Given the description of an element on the screen output the (x, y) to click on. 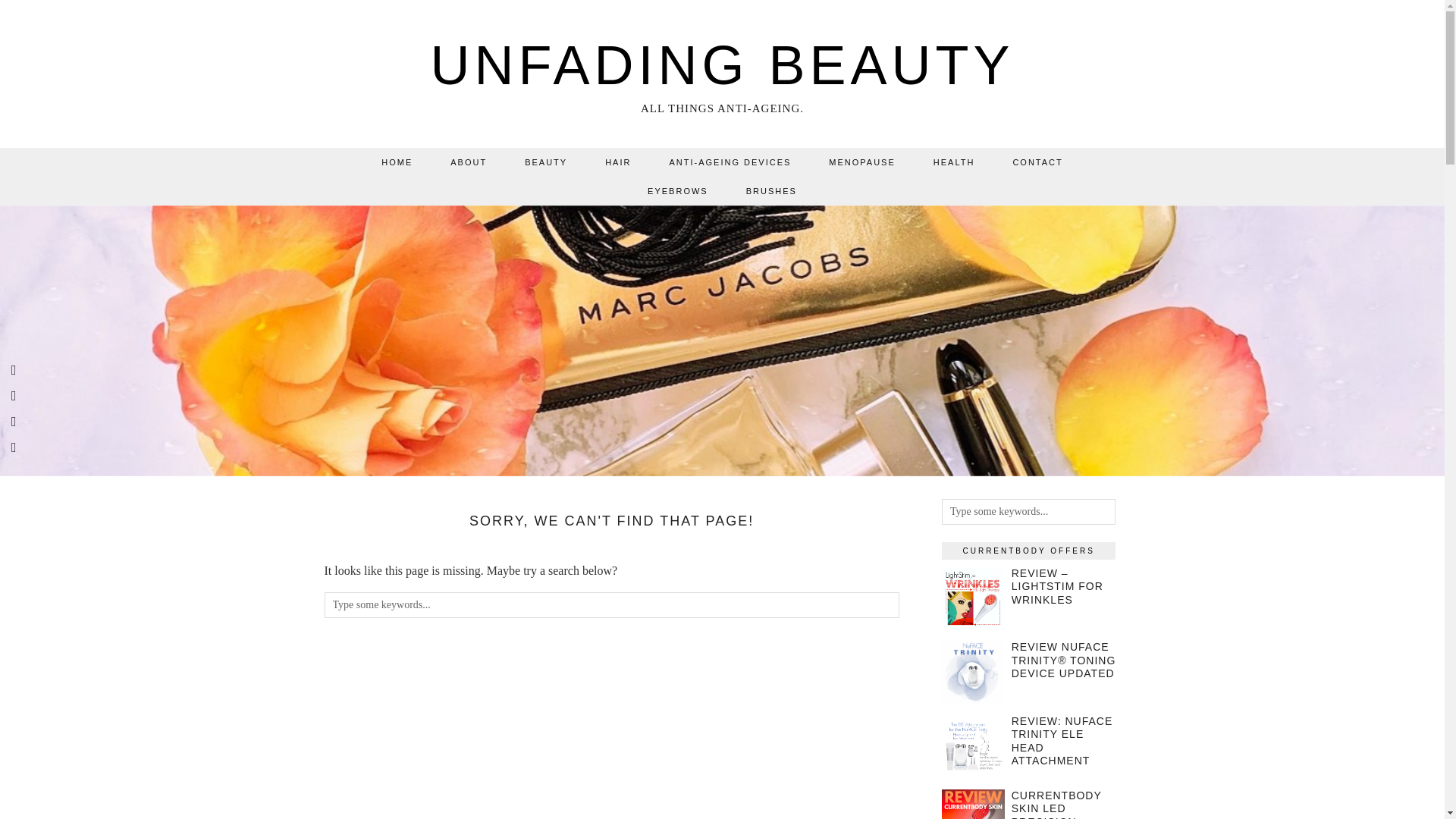
HOME (396, 161)
ABOUT (467, 161)
Unfading Beauty (721, 65)
BEAUTY (545, 161)
UNFADING BEAUTY (721, 65)
